Given the description of an element on the screen output the (x, y) to click on. 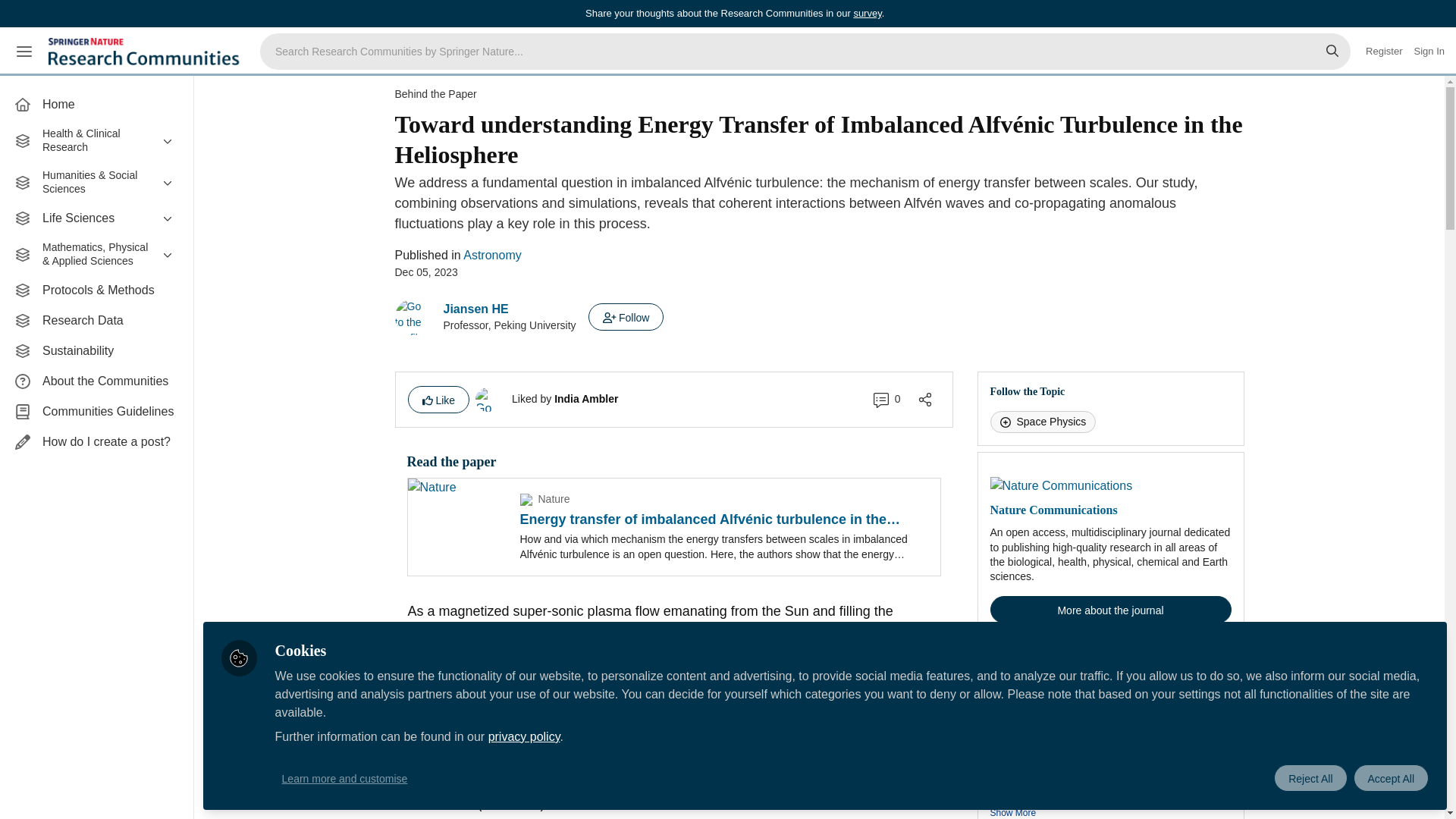
survey (866, 12)
Life Sciences (96, 217)
Home (96, 103)
Search (1332, 51)
Research Communities by Springer Nature (146, 51)
Home (96, 103)
Life Sciences (96, 217)
Menu (24, 51)
